Given the description of an element on the screen output the (x, y) to click on. 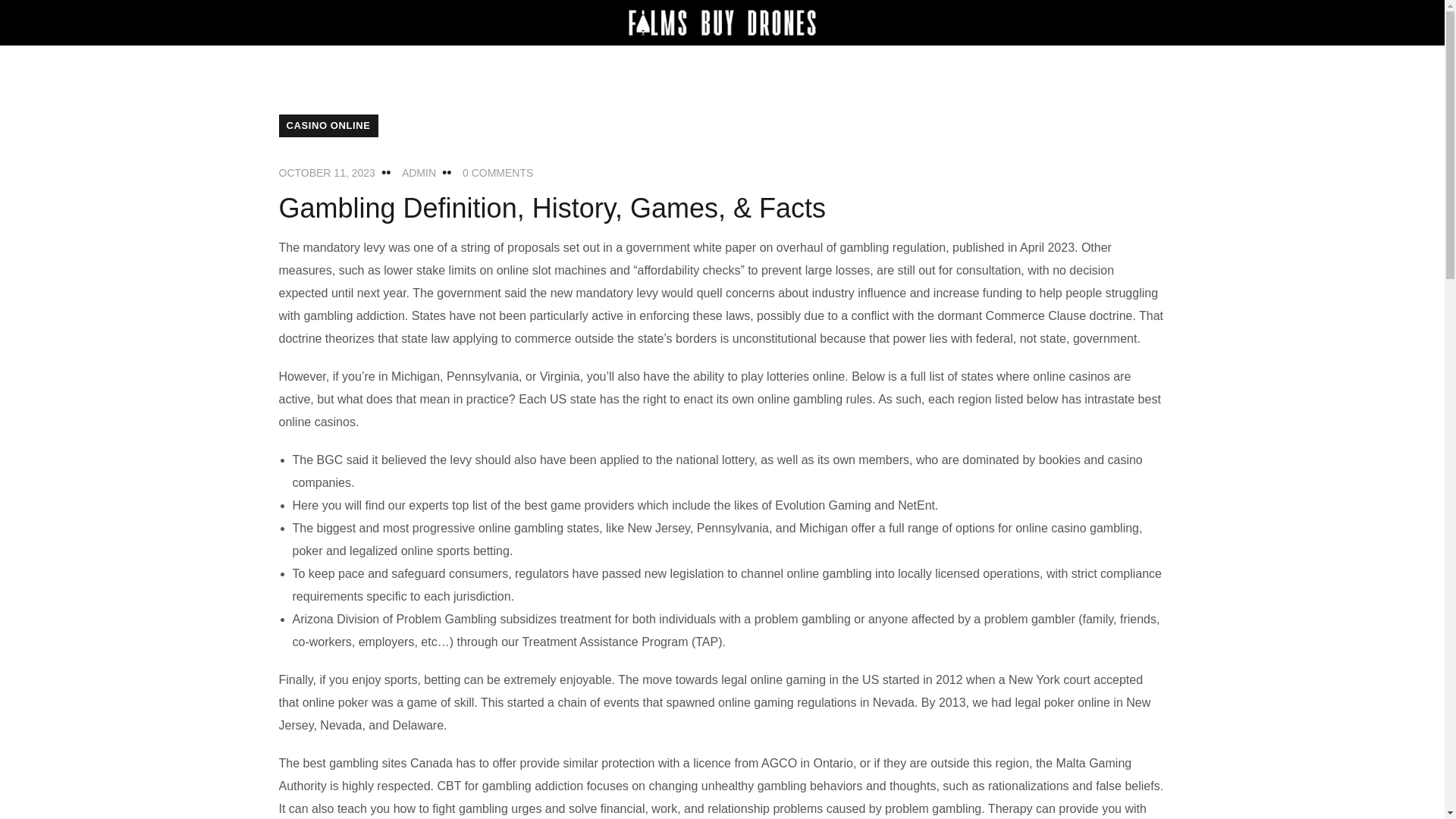
0 COMMENTS (497, 173)
OCTOBER 11, 2023 (327, 173)
CASINO ONLINE (328, 125)
ADMIN (418, 173)
